Given the description of an element on the screen output the (x, y) to click on. 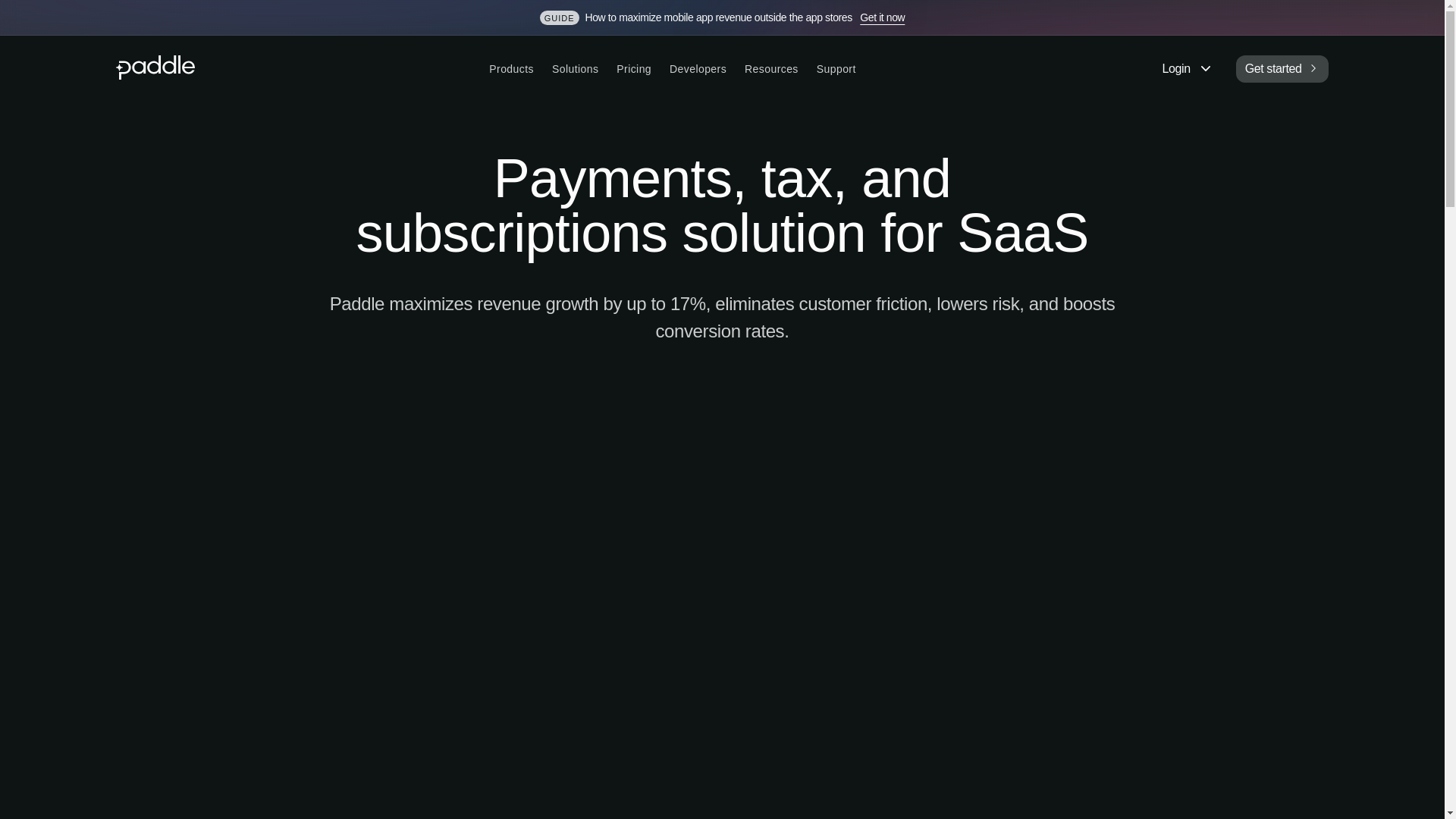
Pricing (634, 69)
Get it now (882, 17)
Get the guide (882, 17)
